Given the description of an element on the screen output the (x, y) to click on. 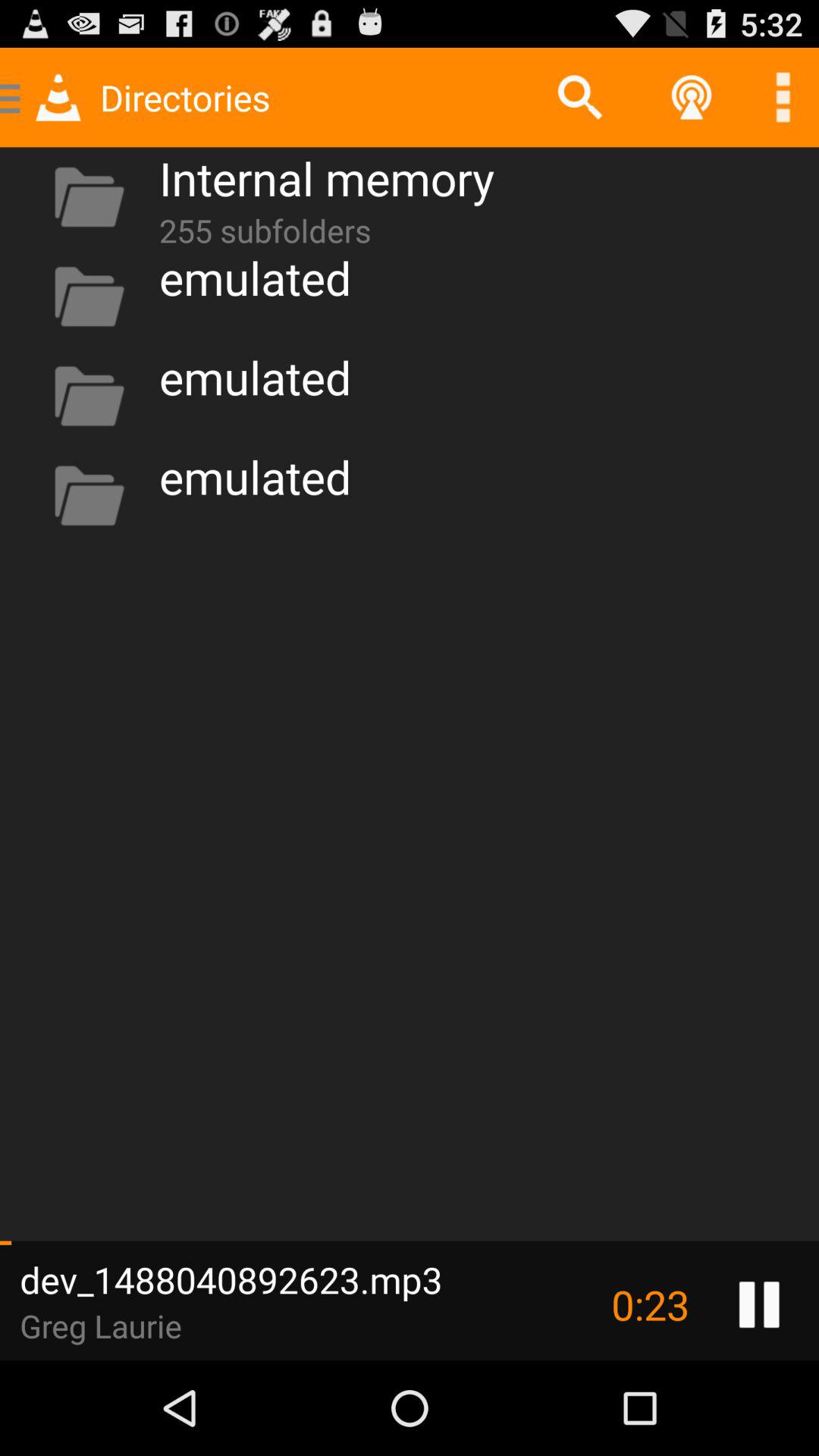
choose icon next to the internal memory app (579, 97)
